Given the description of an element on the screen output the (x, y) to click on. 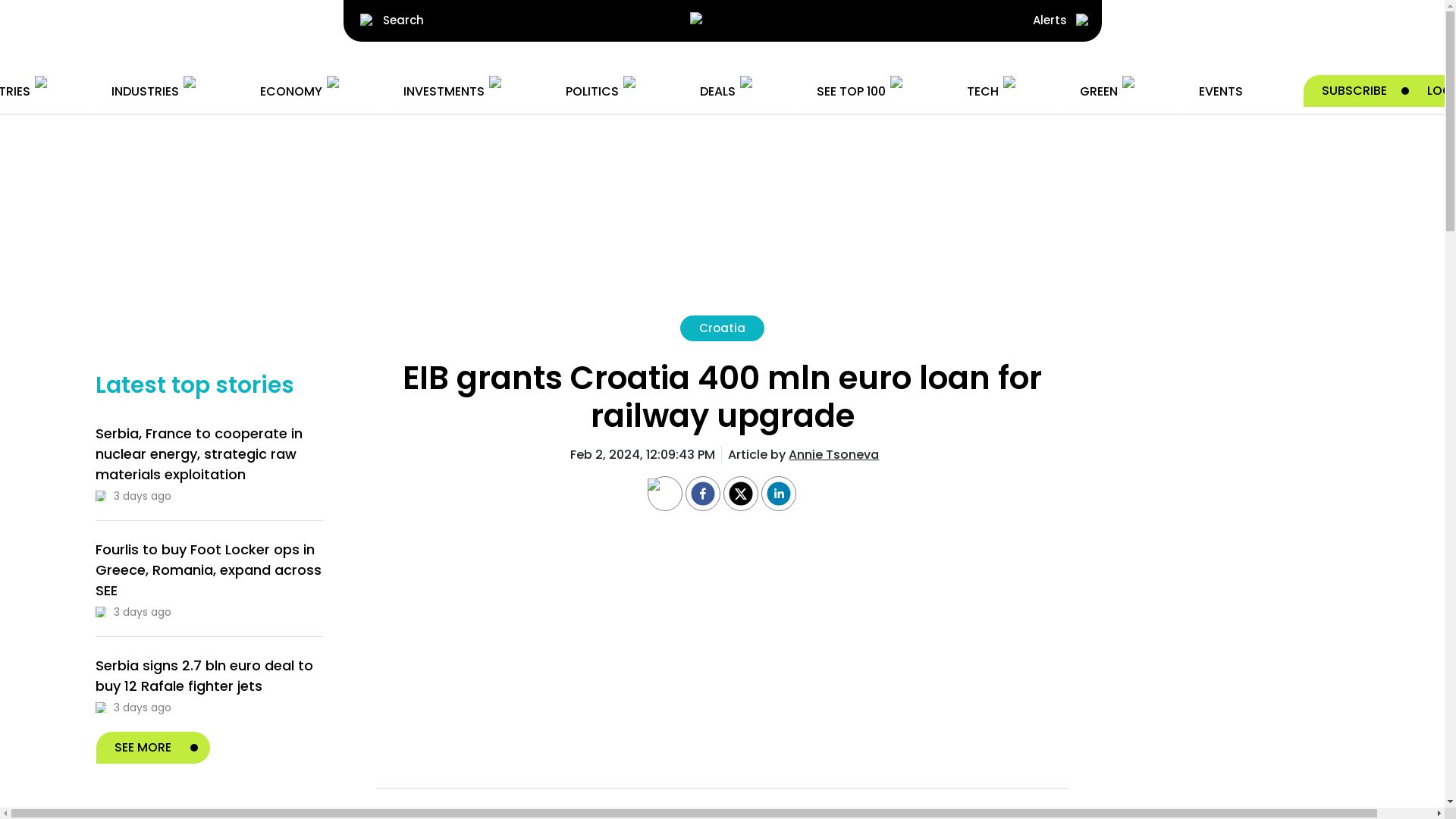
INDUSTRIES (164, 91)
COUNTRIES (34, 91)
ECONOMY (310, 91)
